Given the description of an element on the screen output the (x, y) to click on. 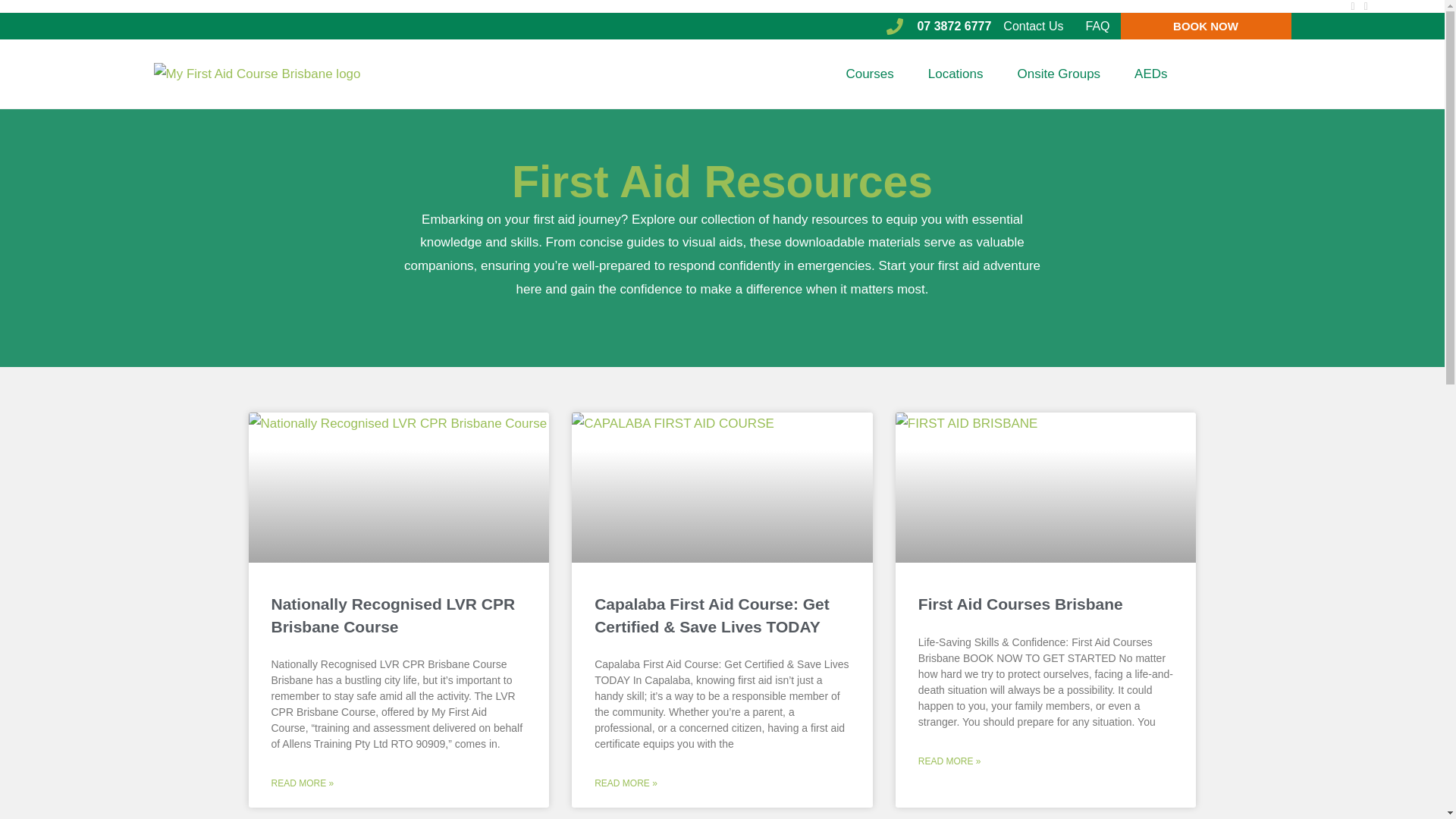
Locations (956, 73)
My First Aid Course Brisbane logo white bg (255, 74)
Contact Us (1032, 26)
07 3872 6777 (938, 26)
AEDs (1150, 73)
Courses (869, 73)
Onsite Groups (1058, 73)
BOOK NOW (1206, 26)
FAQ (1092, 26)
